Given the description of an element on the screen output the (x, y) to click on. 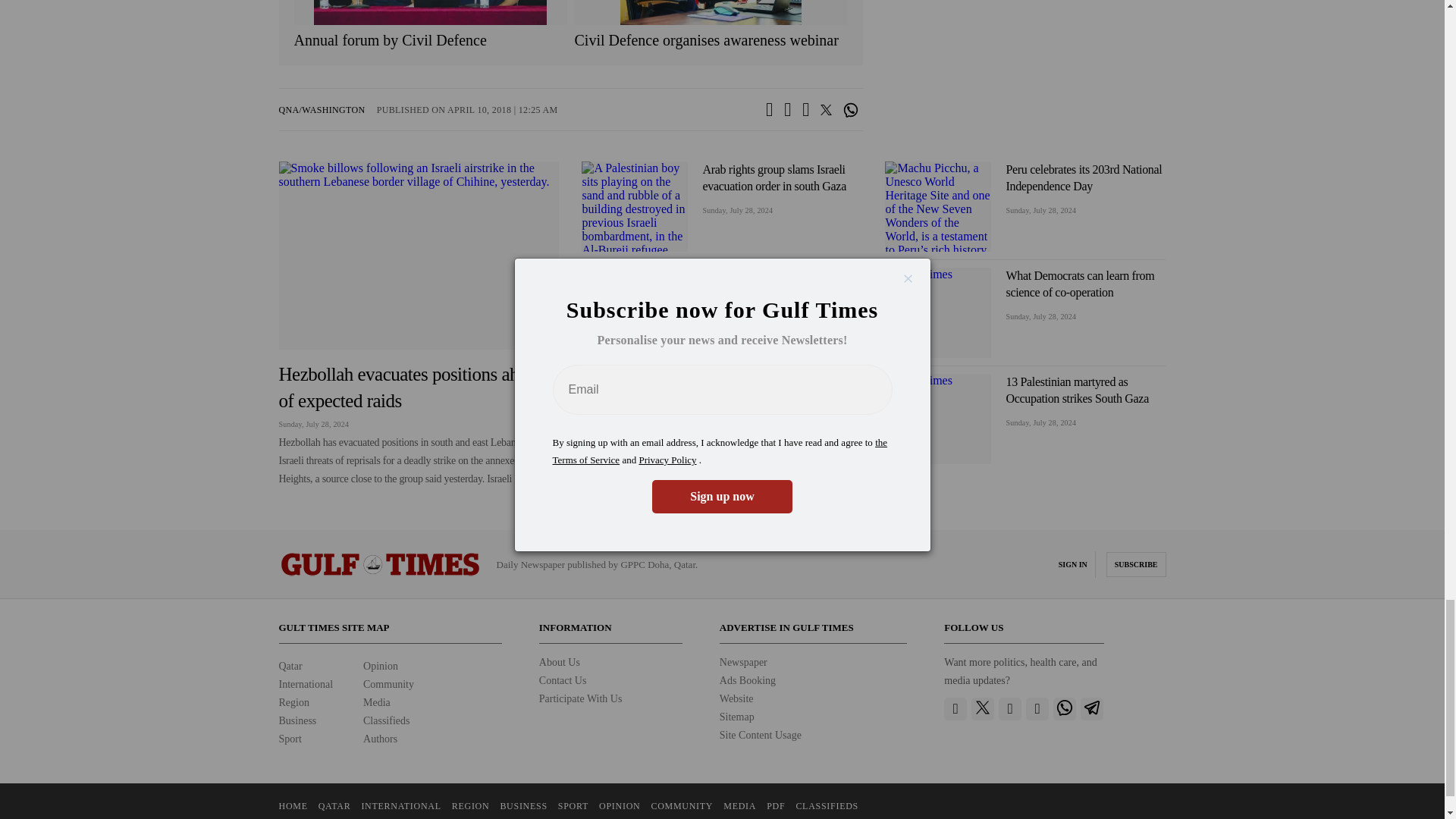
Civil Defence organises awareness webinar (711, 40)
Annual forum by Civil Defence (430, 40)
